Given the description of an element on the screen output the (x, y) to click on. 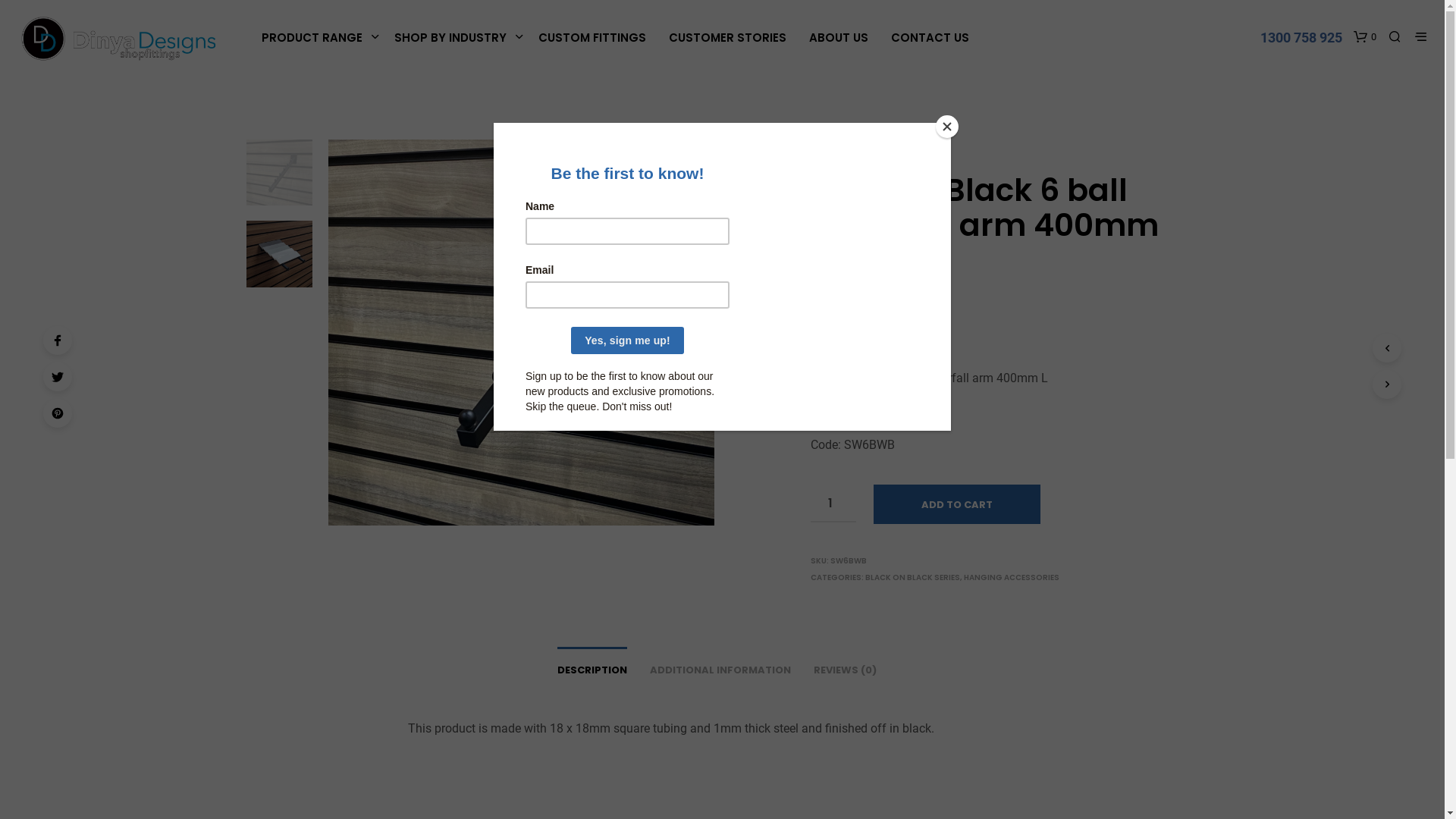
ADDITIONAL INFORMATION Element type: text (719, 665)
CONTACT US Element type: text (929, 38)
CUSTOM FITTINGS Element type: text (592, 38)
Qty Element type: hover (833, 503)
CUSTOMER STORIES Element type: text (727, 38)
Twitter Element type: hover (57, 376)
HOME Element type: text (820, 144)
SHOP BY INDUSTRY Element type: text (449, 38)
DESCRIPTION Element type: text (591, 665)
ADD TO CART Element type: text (956, 503)
ABOUT US Element type: text (838, 38)
0 Element type: text (1364, 36)
1300 758 925 Element type: text (1301, 37)
HANGING ACCESSORIES Element type: text (1011, 577)
Pinterest Element type: hover (57, 412)
PRODUCT RANGE Element type: text (311, 38)
SW6BWB Element type: hover (520, 332)
HANGING ACCESSORIES Element type: text (892, 144)
6bthb Element type: hover (907, 332)
BLACK ON BLACK SERIES Element type: text (912, 577)
Facebook Element type: hover (57, 340)
REVIEWS (0) Element type: text (843, 665)
